Given the description of an element on the screen output the (x, y) to click on. 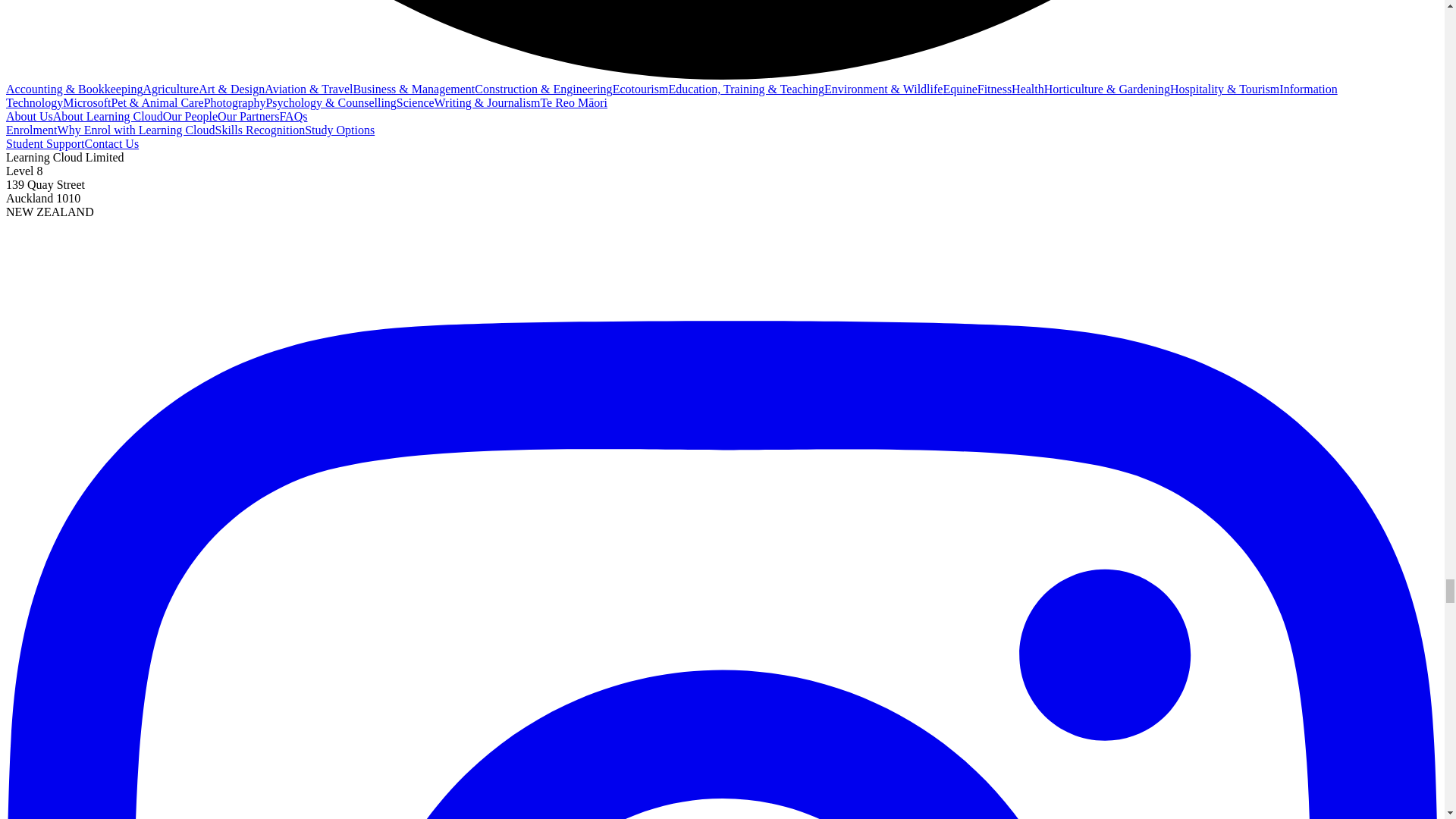
Photography (234, 102)
Microsoft (86, 102)
Information Technology (671, 95)
Agriculture (170, 88)
Science (414, 102)
Ecotourism (640, 88)
Equine (959, 88)
Health (1027, 88)
Fitness (993, 88)
